Given the description of an element on the screen output the (x, y) to click on. 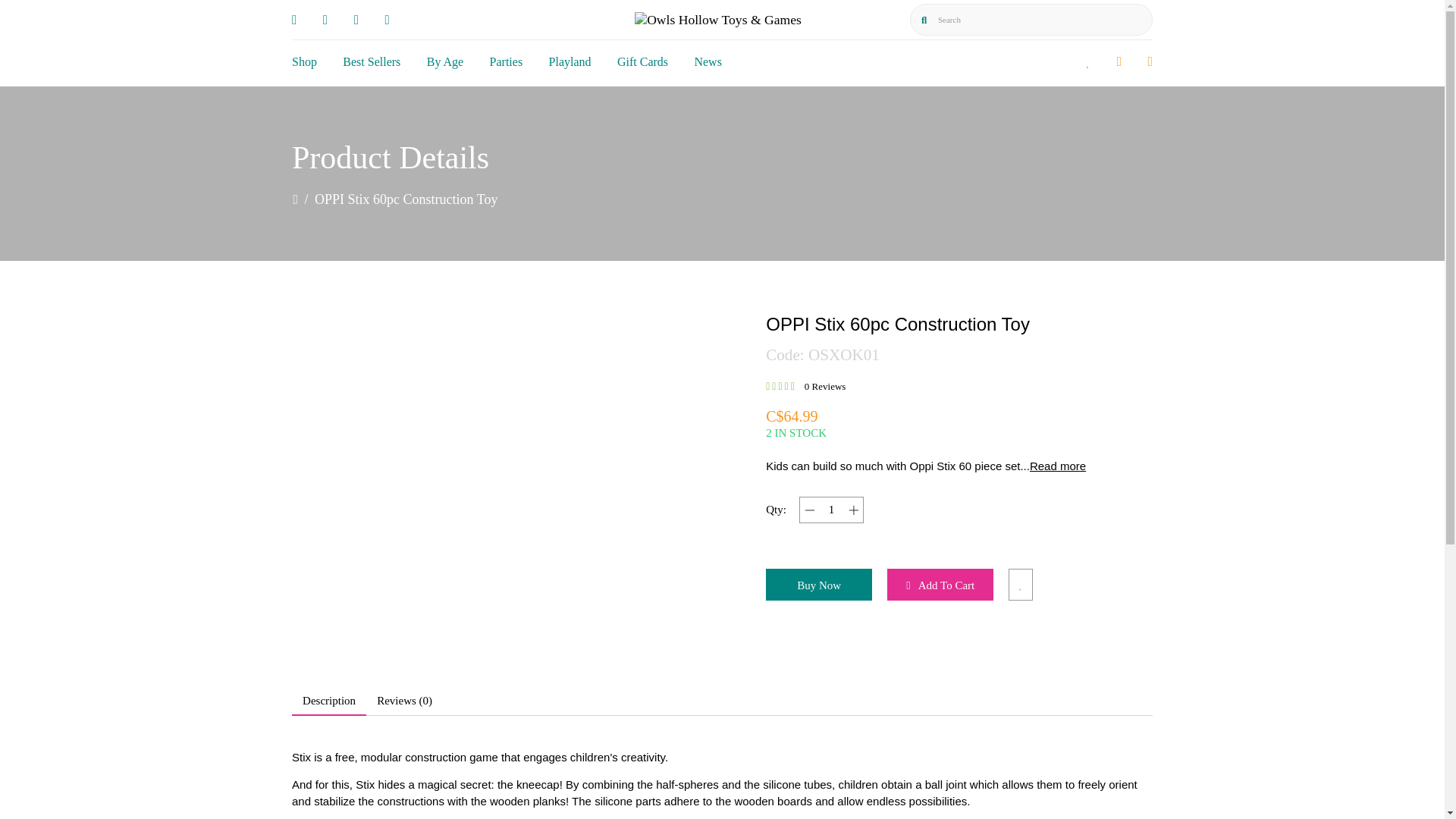
OPPI Stix 60pc Construction Toy (304, 60)
Toy Store and Indoor Playroom (718, 19)
Parties (505, 60)
by age (444, 60)
Gift Cards (642, 60)
OPPI Stix 60pc Construction Toy (707, 60)
0 Reviews (825, 386)
Playland (569, 60)
1 (831, 509)
OPPI Stix 60pc Construction Toy (371, 60)
